Given the description of an element on the screen output the (x, y) to click on. 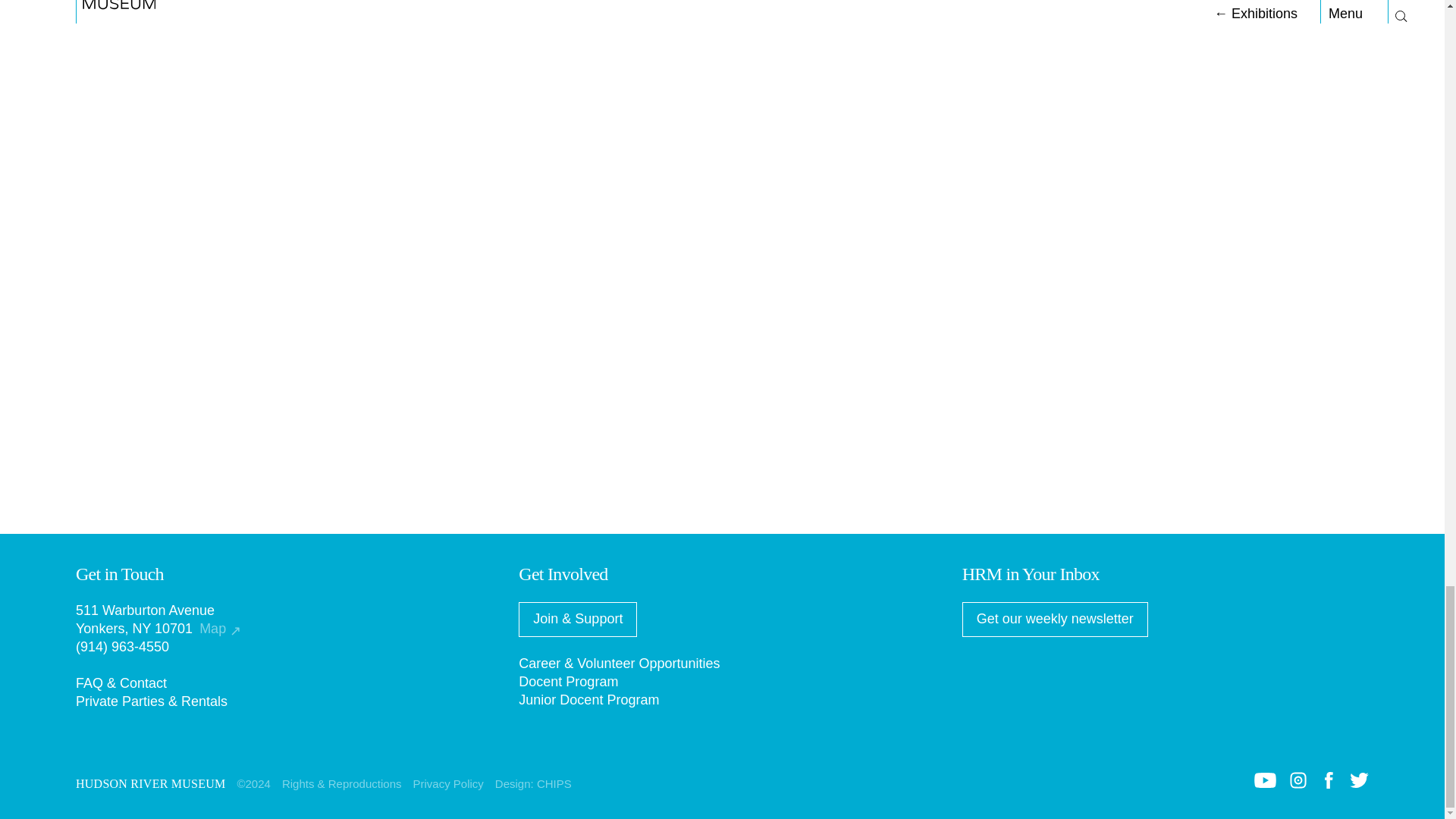
Link to Twitter HRM profile (1358, 783)
Privacy Policy (447, 783)
Get our weekly newsletter (1055, 619)
Junior Docent Program (588, 699)
Link to Facebook HRM profile (1328, 784)
Docent Program (567, 681)
Link to Instagram HRM profile (1298, 784)
Link to YouTube HRM profile (1264, 783)
CHIPS (554, 783)
